Given the description of an element on the screen output the (x, y) to click on. 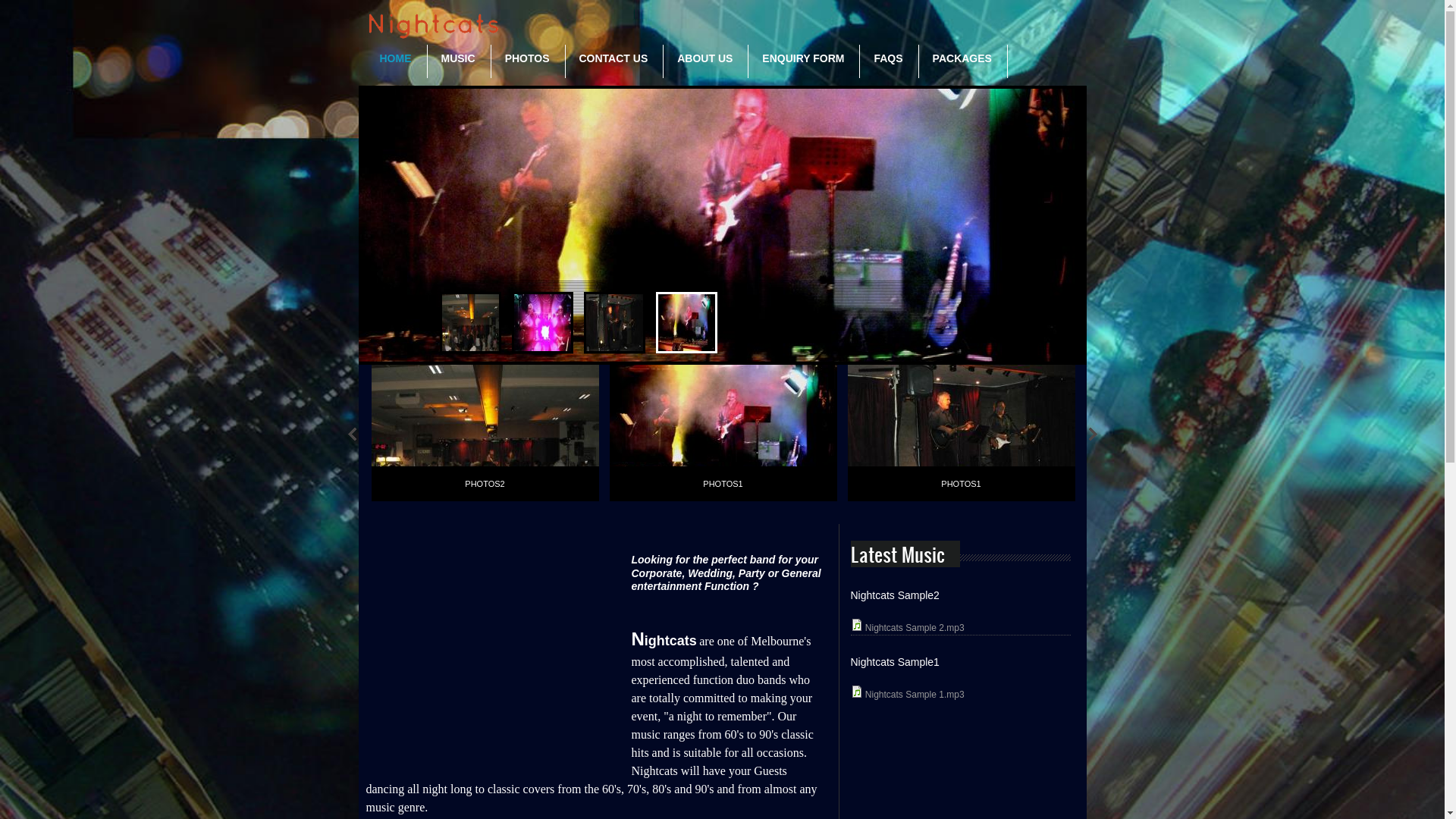
audio/mpeg Element type: hover (856, 624)
Nightcats Sample 1.mp3 Element type: text (914, 694)
PHOTOS1 Element type: text (960, 483)
Home Element type: hover (433, 26)
CONTACT US Element type: text (612, 58)
ABOUT US Element type: text (704, 58)
ENQUIRY FORM Element type: text (802, 58)
PHOTOS Element type: text (527, 58)
MUSIC Element type: text (457, 58)
Nightcats Sample 2.mp3 Element type: text (914, 627)
PHOTOS2 Element type: text (484, 483)
Skip to main content Element type: text (41, 0)
audio/mpeg Element type: hover (856, 691)
HOME Element type: text (395, 58)
FAQS Element type: text (887, 58)
PACKAGES Element type: text (961, 58)
PHOTOS1 Element type: text (722, 483)
